Given the description of an element on the screen output the (x, y) to click on. 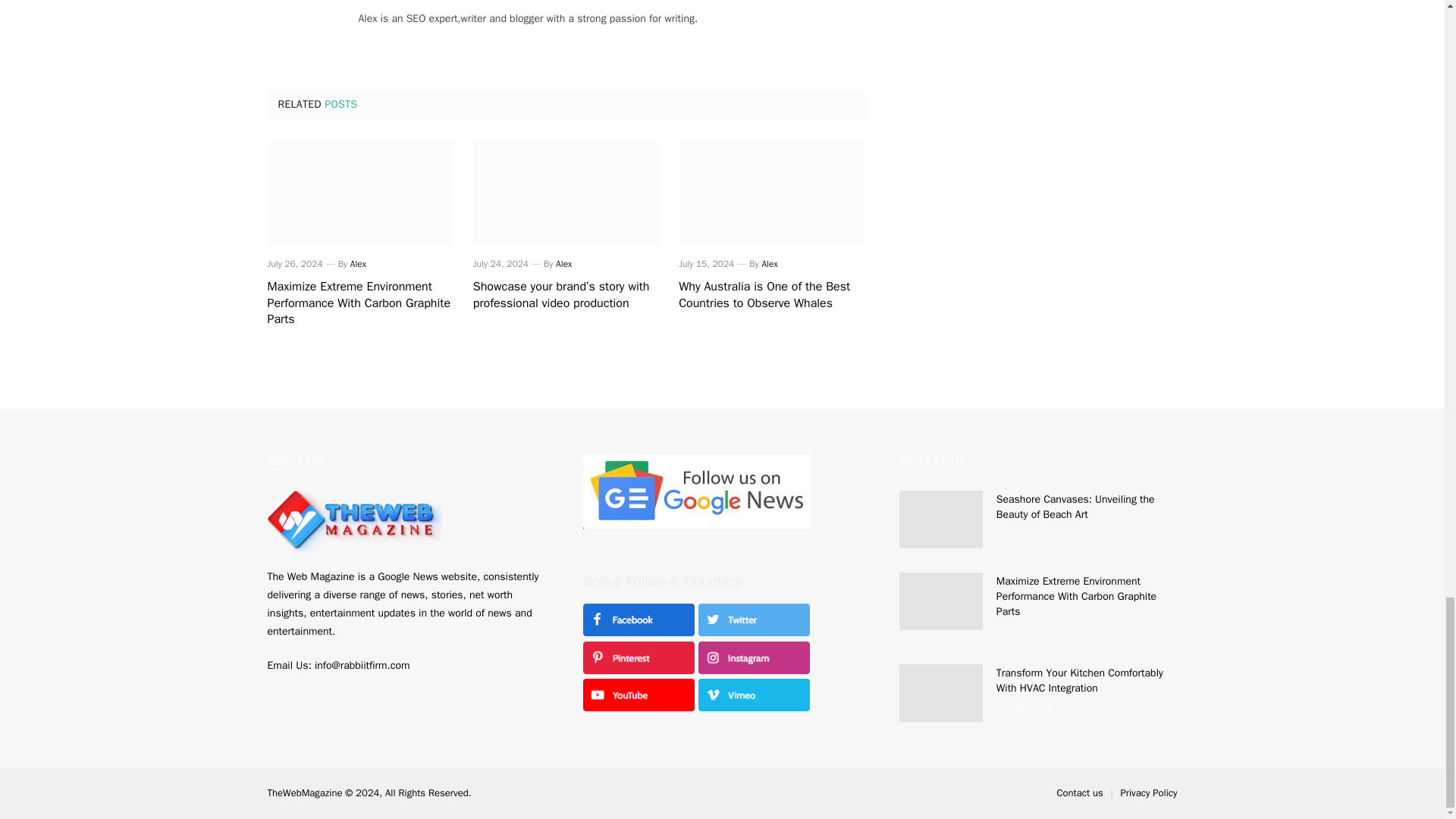
Alex (769, 263)
Alex (564, 263)
Posts by Alex (358, 263)
Posts by Alex (564, 263)
Why Australia is One of the Best Countries to Observe Whales (771, 295)
Alex (358, 263)
